Given the description of an element on the screen output the (x, y) to click on. 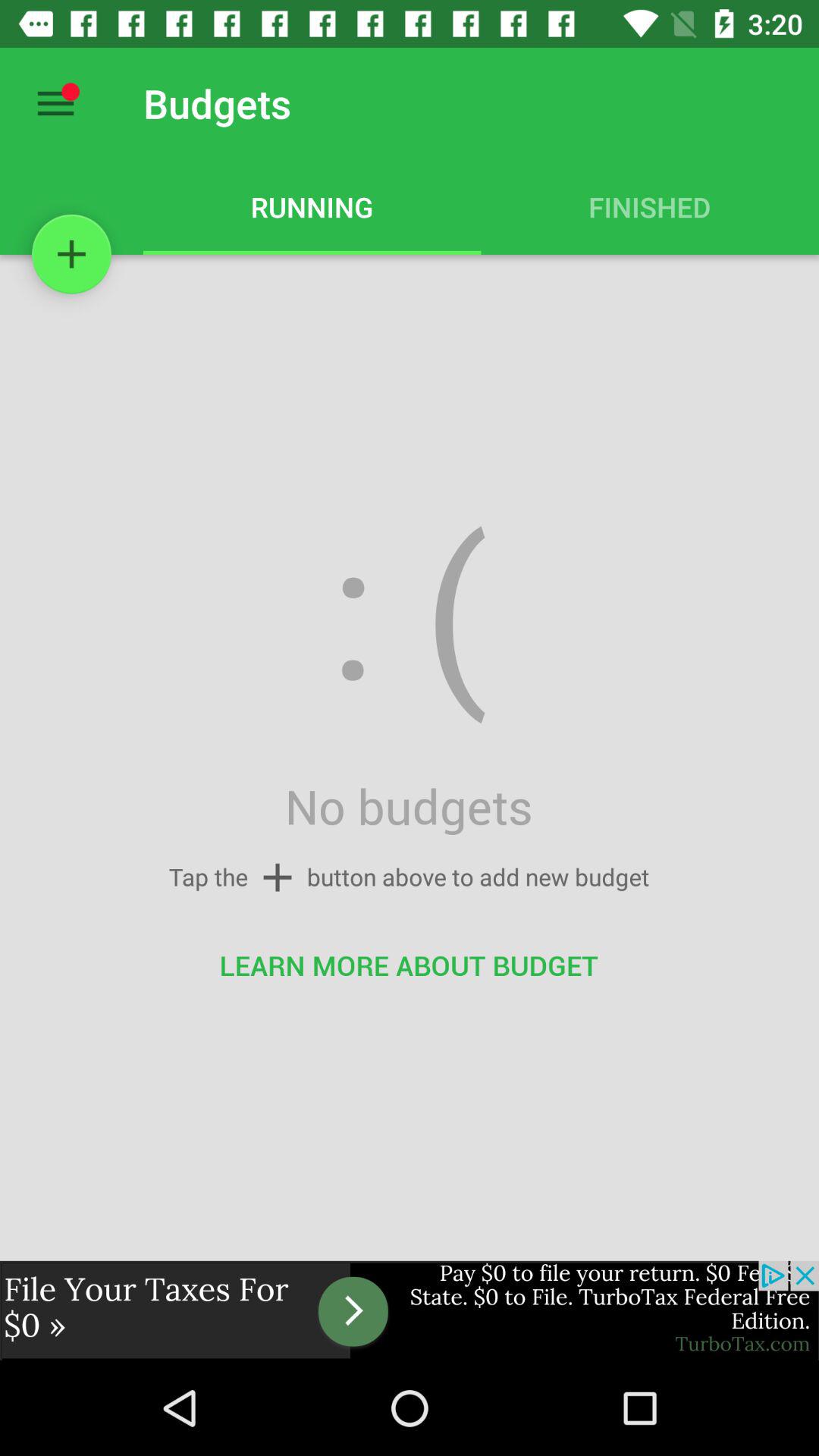
open menu (55, 103)
